Given the description of an element on the screen output the (x, y) to click on. 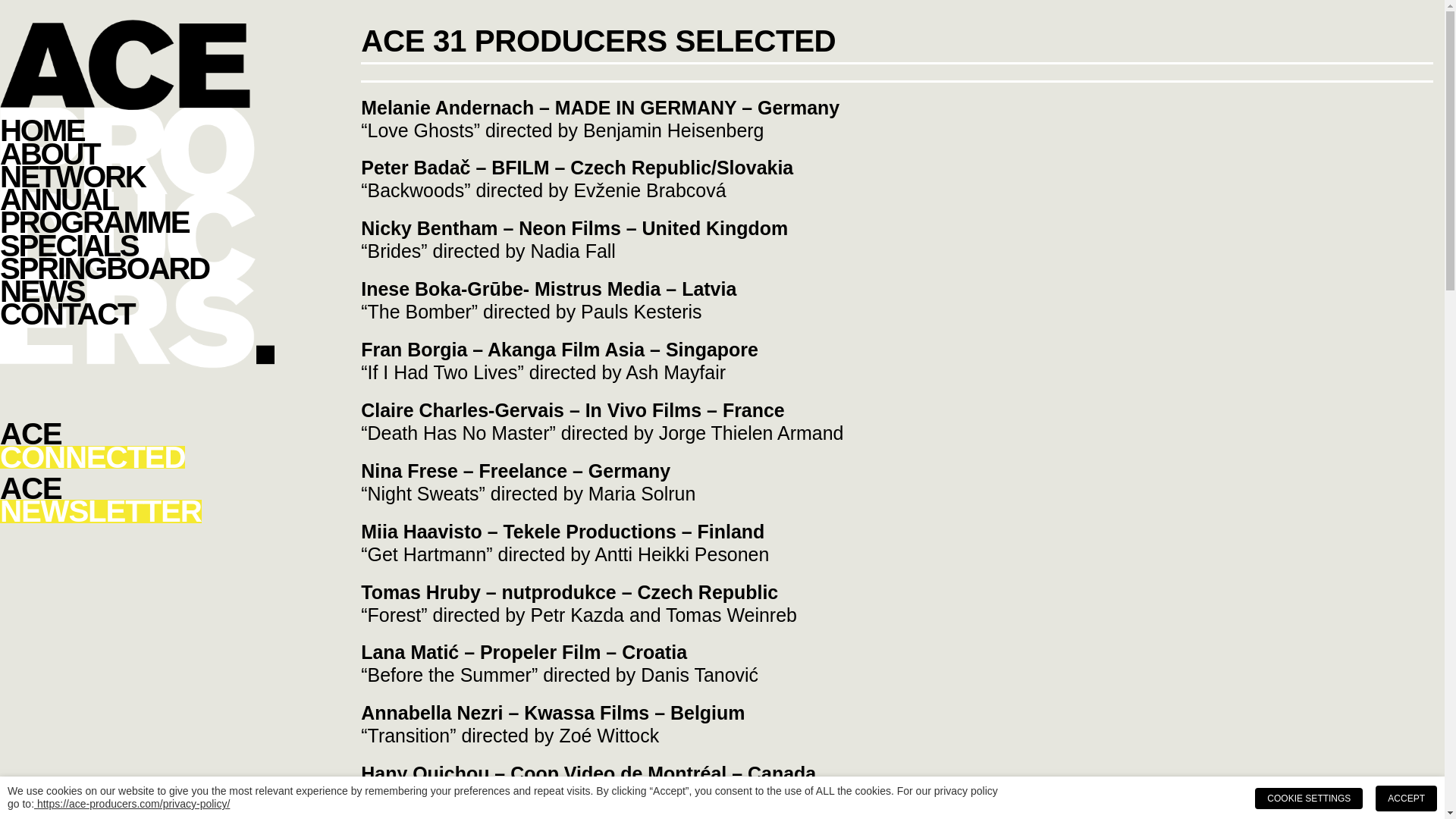
HOME (137, 500)
CONTACT (137, 129)
ANNUAL PROGRAMME (137, 313)
ACCEPT (137, 210)
COOKIE SETTINGS (1406, 798)
ABOUT (1308, 798)
SPRINGBOARD (137, 153)
NETWORK (137, 445)
